Given the description of an element on the screen output the (x, y) to click on. 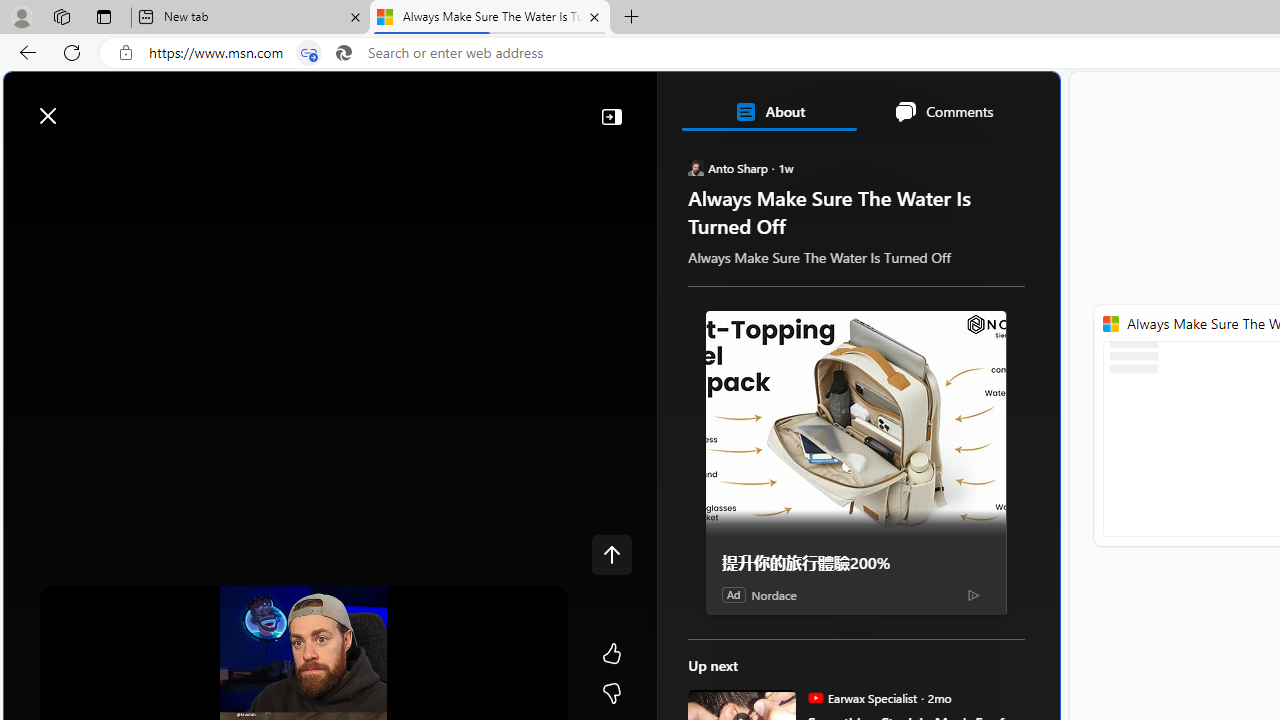
Search icon (343, 53)
Class: button-glyph (77, 162)
Skip to content (86, 105)
Tabs in split screen (308, 53)
Open settings (1015, 105)
Skip to footer (82, 105)
Enter your search term (536, 106)
